Given the description of an element on the screen output the (x, y) to click on. 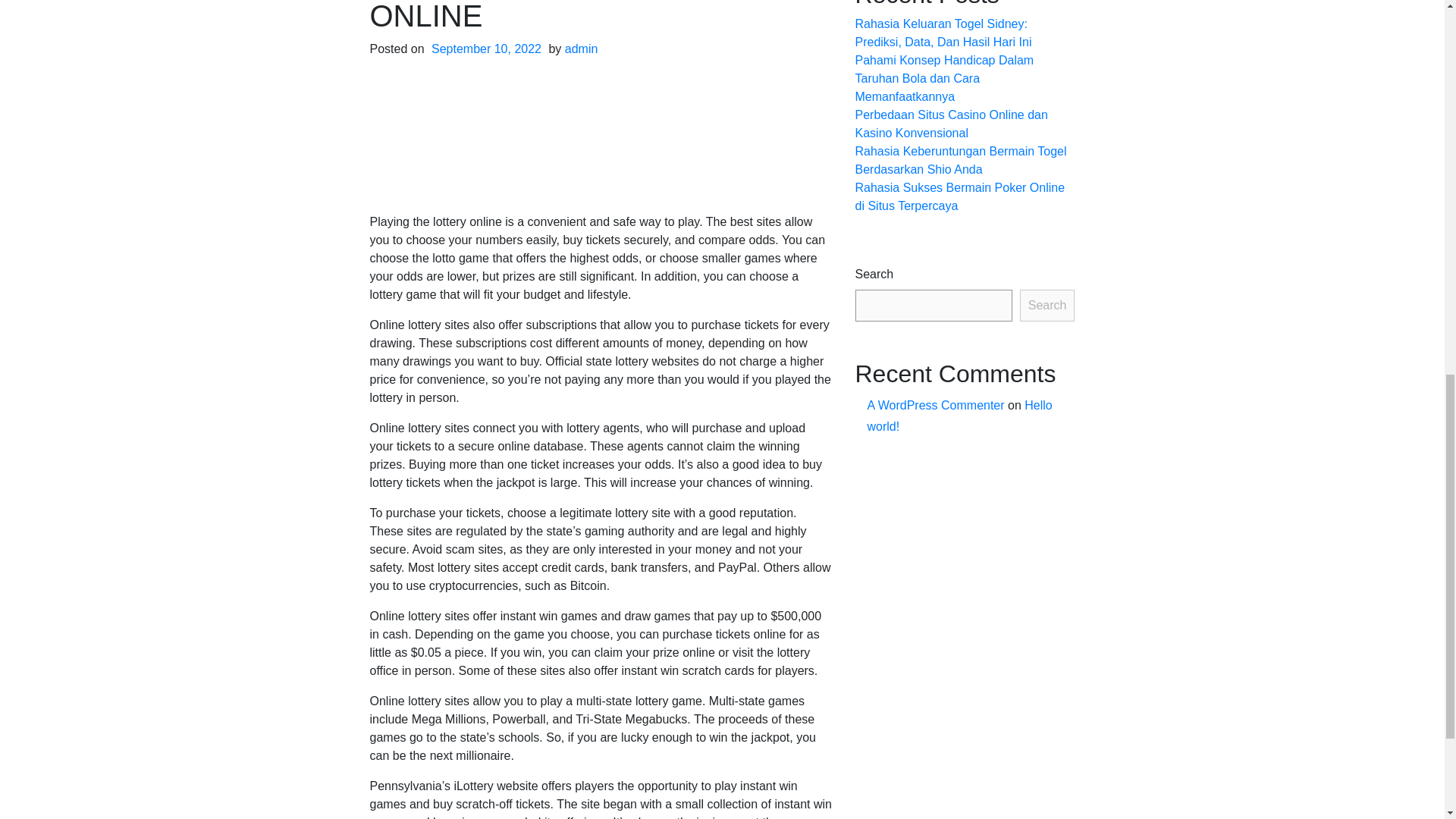
September 10, 2022 (486, 48)
